Given the description of an element on the screen output the (x, y) to click on. 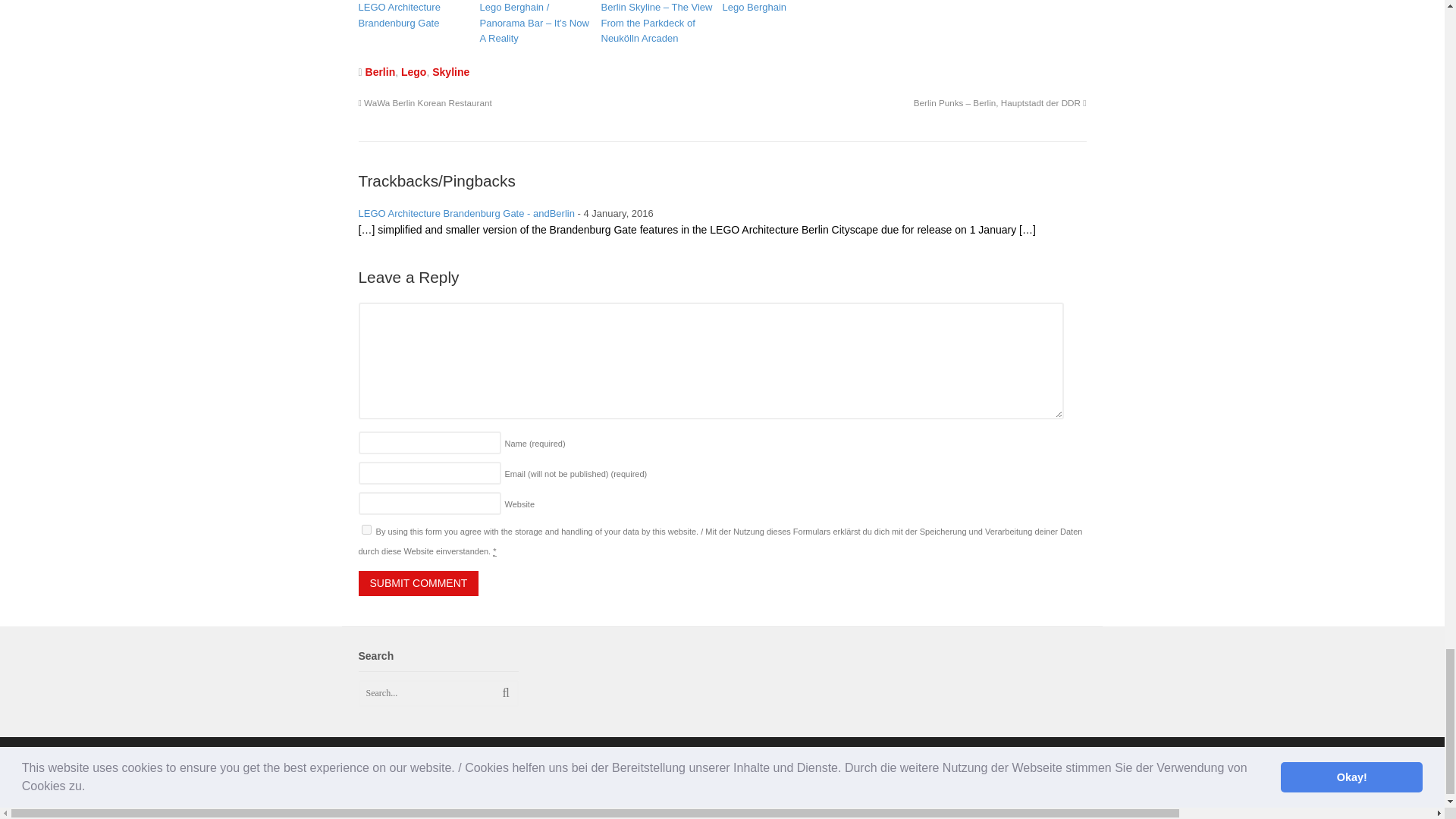
Submit Comment (418, 583)
English (704, 804)
1 (366, 529)
Search... (432, 693)
